Given the description of an element on the screen output the (x, y) to click on. 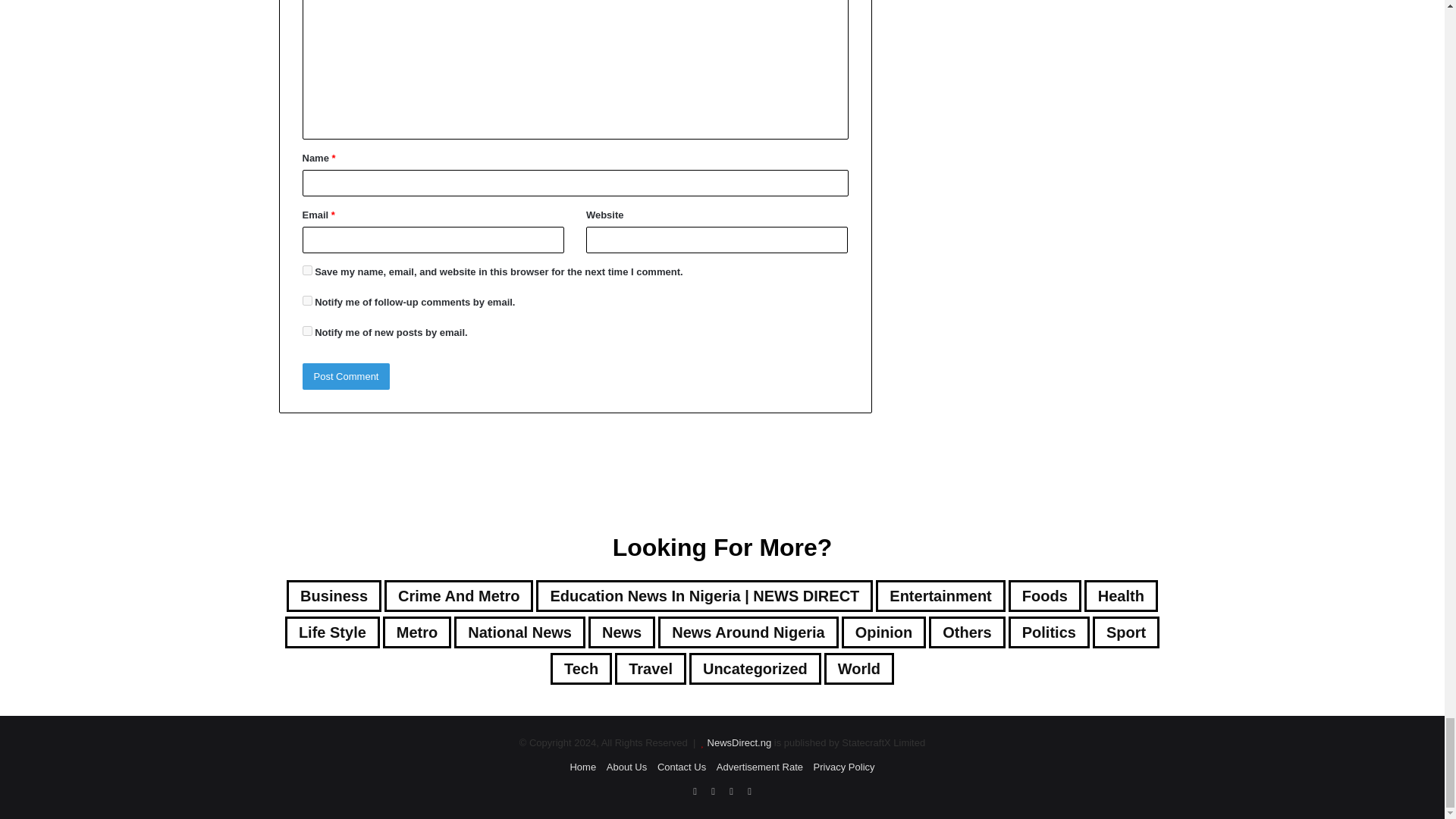
subscribe (306, 300)
subscribe (306, 330)
Post Comment (345, 376)
yes (306, 270)
